Given the description of an element on the screen output the (x, y) to click on. 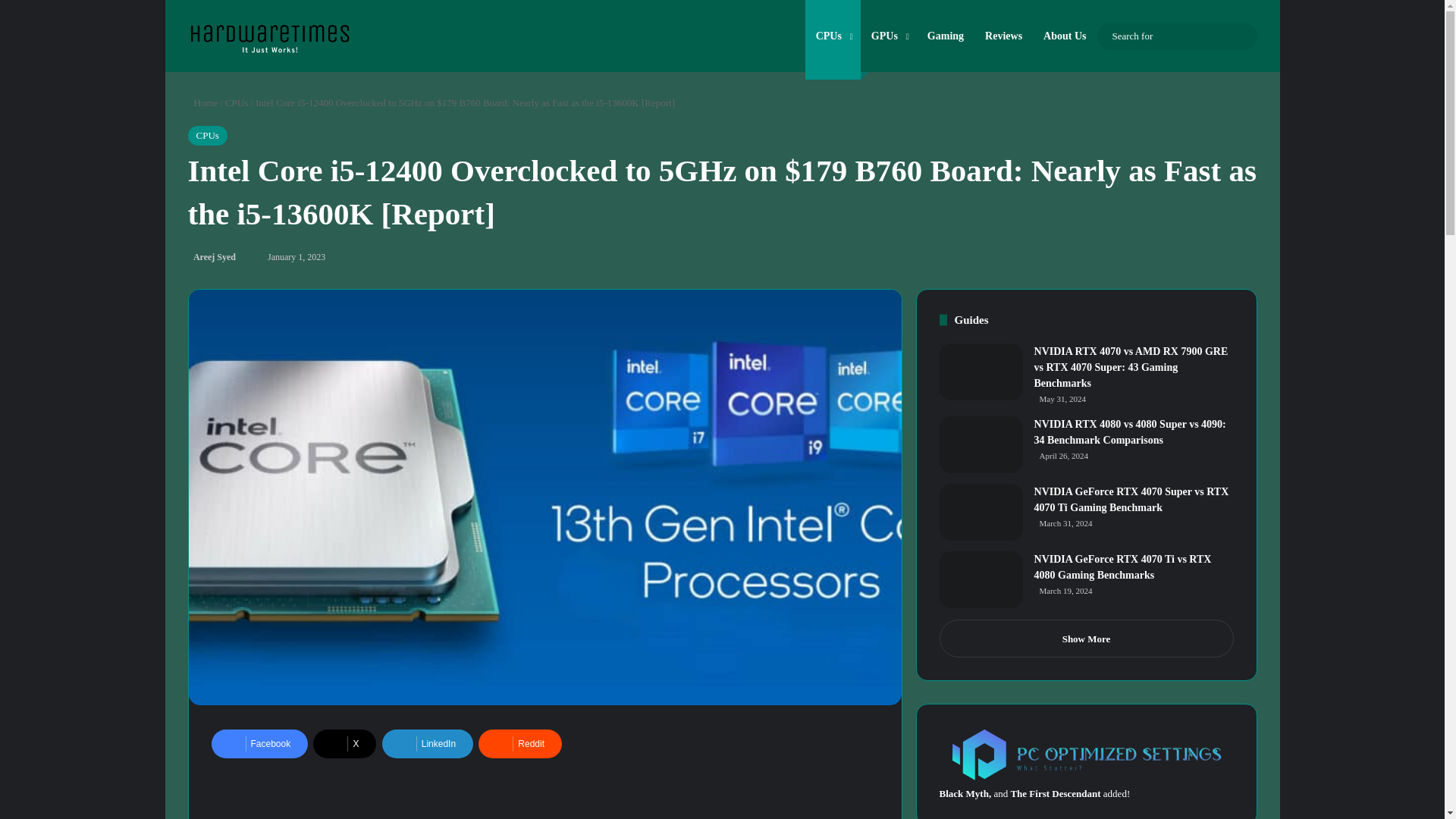
Hardware Times (268, 34)
LinkedIn (427, 743)
CPUs (207, 135)
CPUs (236, 102)
Areej Syed (211, 256)
X (344, 743)
X (344, 743)
LinkedIn (427, 743)
Search for (1242, 35)
Facebook (259, 743)
